Given the description of an element on the screen output the (x, y) to click on. 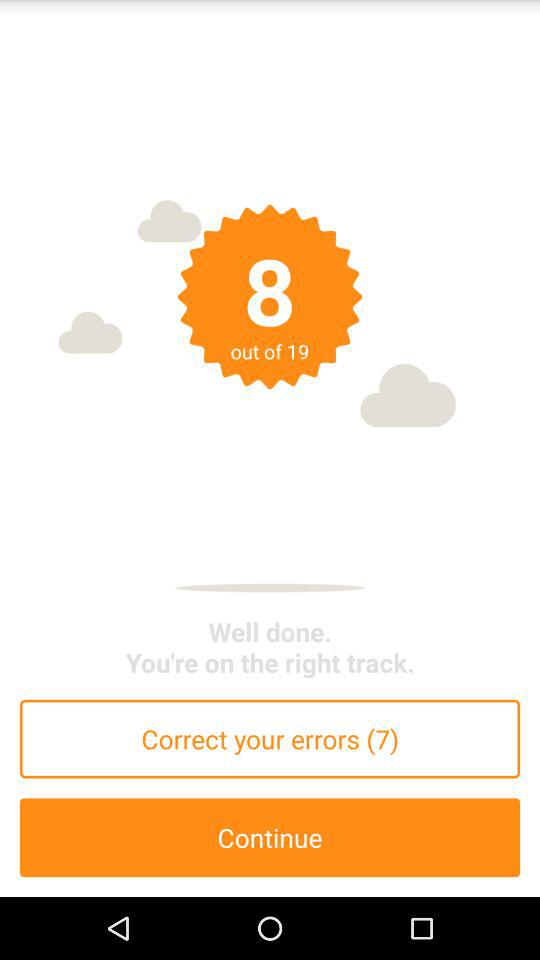
click continue icon (269, 837)
